Given the description of an element on the screen output the (x, y) to click on. 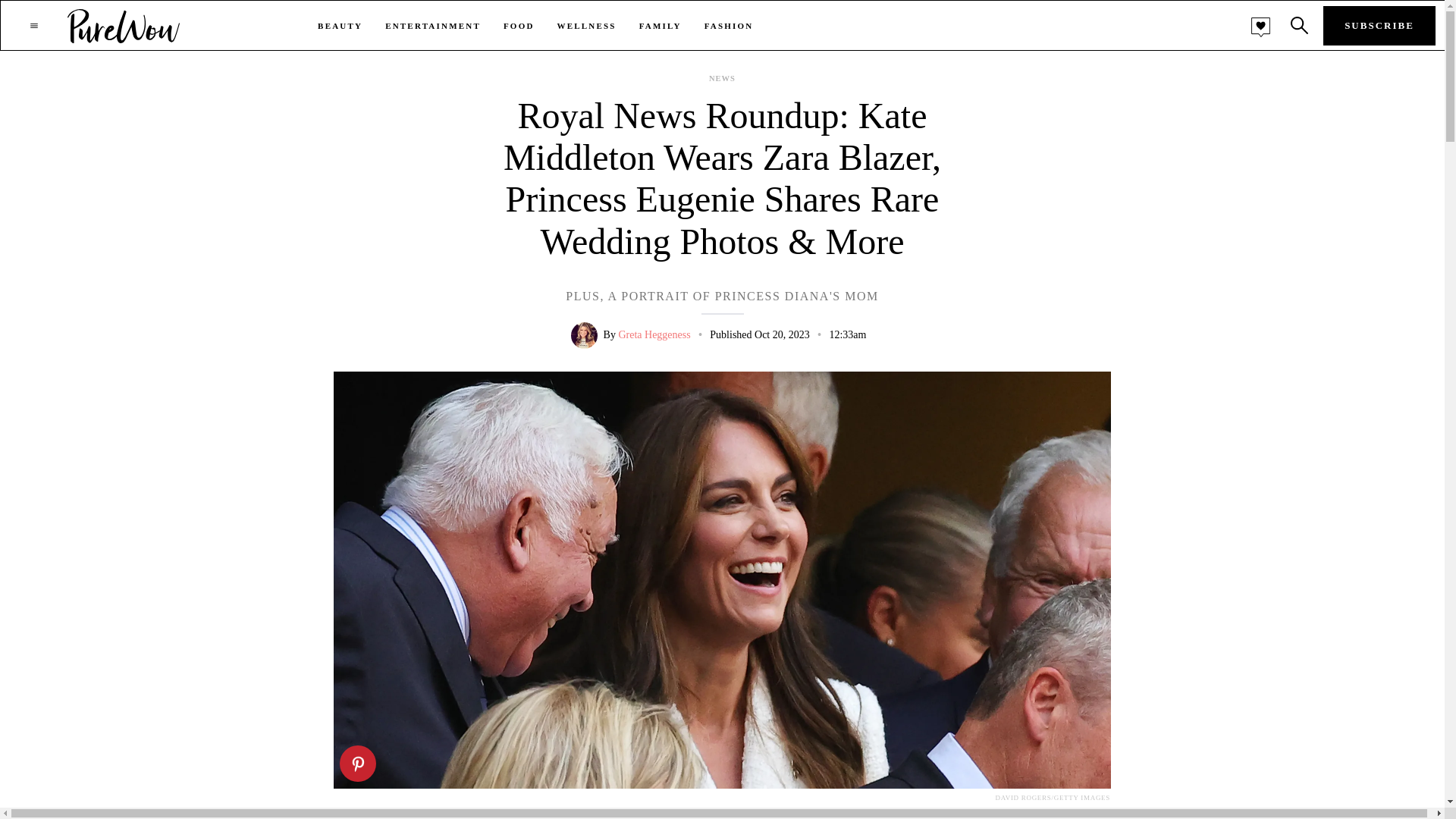
FASHION (729, 25)
Greta Heggeness (653, 334)
PureWow (123, 25)
FOOD (518, 25)
SUBSCRIBE (1379, 25)
BEAUTY (339, 25)
WELLNESS (586, 25)
NEWS (722, 78)
FAMILY (660, 25)
ENTERTAINMENT (432, 25)
